Given the description of an element on the screen output the (x, y) to click on. 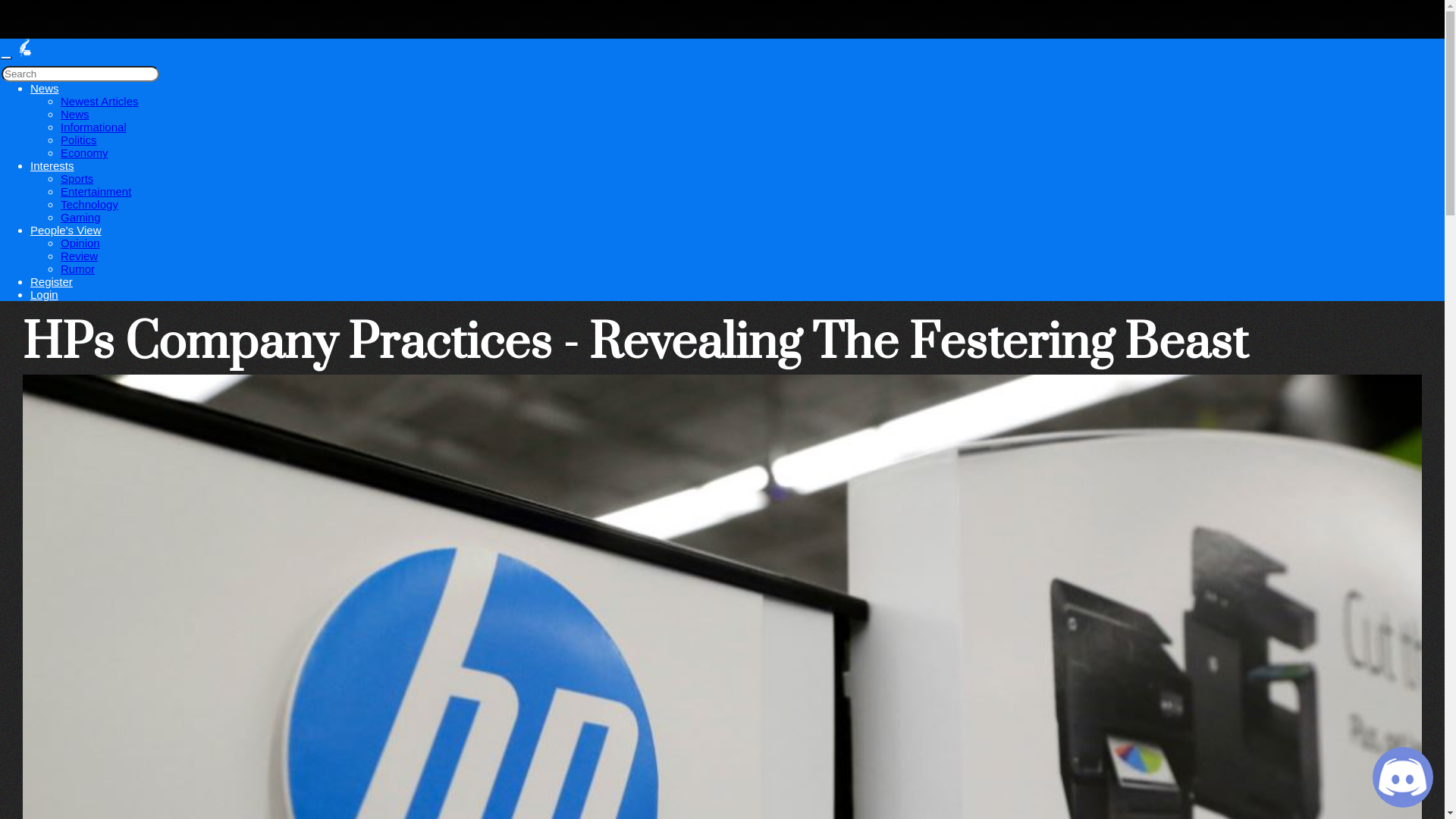
Login Element type: text (44, 294)
Register Element type: text (51, 281)
Politics Element type: text (78, 139)
Rumor Element type: text (77, 268)
Technology Element type: text (89, 203)
People's View Element type: text (65, 229)
Newest Articles Element type: text (99, 100)
Informational Element type: text (93, 126)
Gaming Element type: text (80, 216)
Opinion Element type: text (80, 242)
Economy Element type: text (84, 152)
Sports Element type: text (76, 178)
News Element type: text (74, 113)
News Element type: text (44, 87)
Review Element type: text (78, 255)
Entertainment Element type: text (95, 191)
Interests Element type: text (52, 165)
